Given the description of an element on the screen output the (x, y) to click on. 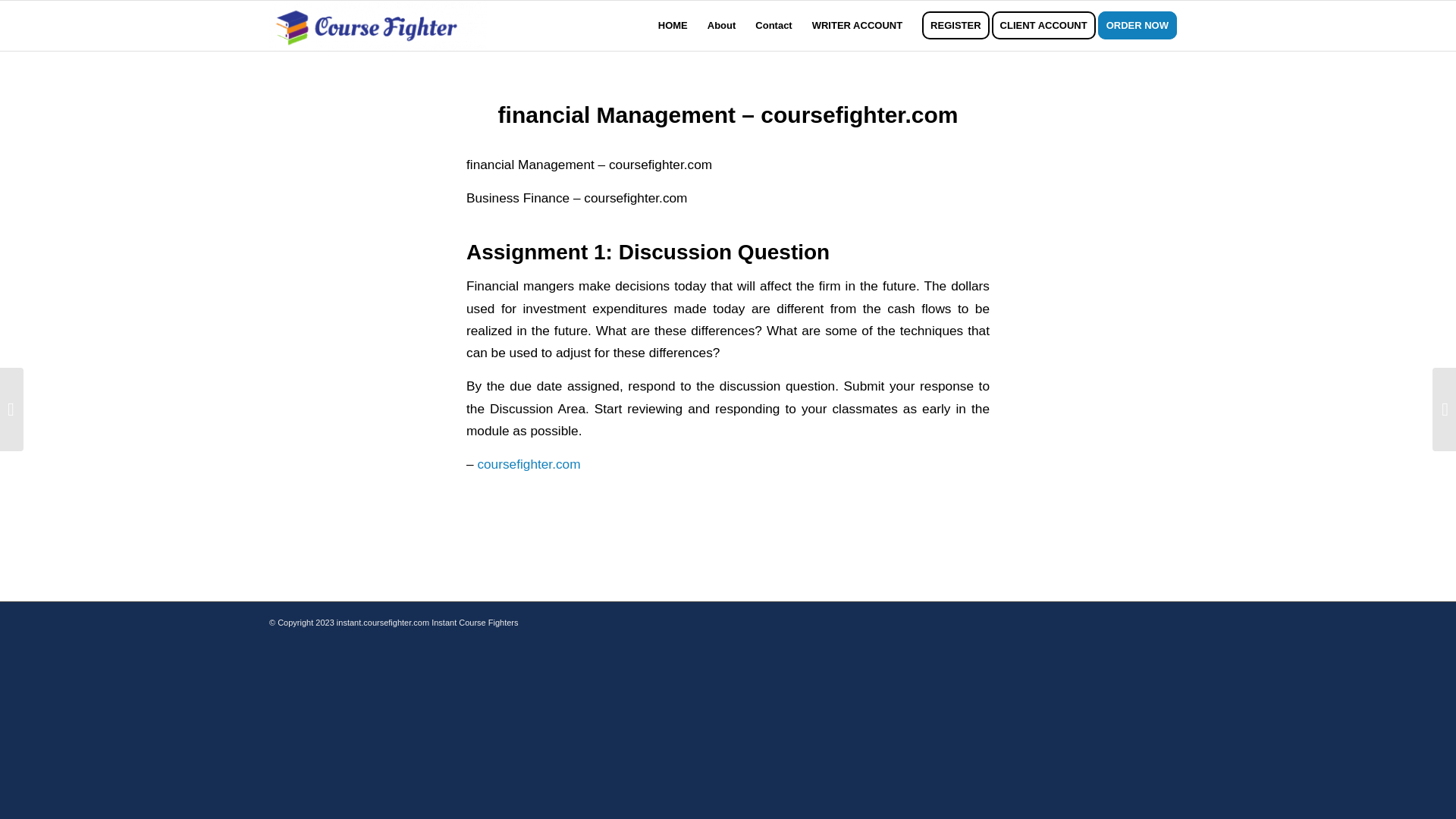
coursefighter.com (528, 463)
REGISTER (955, 25)
WRITER ACCOUNT (857, 25)
About (721, 25)
ORDER NOW (1141, 25)
HOME (672, 25)
Contact (773, 25)
CLIENT ACCOUNT (1048, 25)
